Given the description of an element on the screen output the (x, y) to click on. 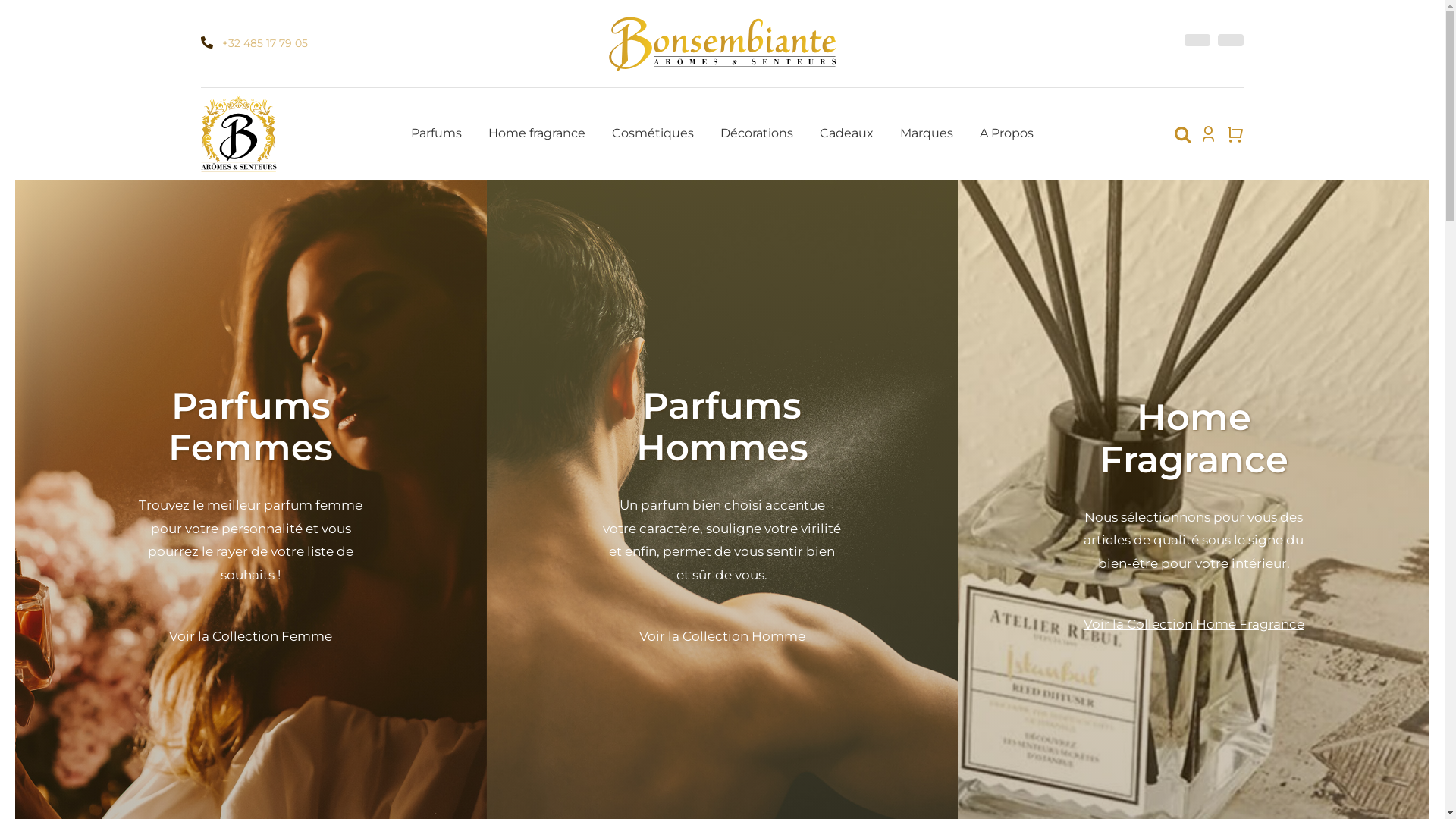
Cadeaux Element type: text (846, 133)
Voir la Collection Homme Element type: text (722, 635)
Marques Element type: text (926, 133)
Parfums Element type: text (436, 133)
Facebook Element type: hover (1197, 40)
Recherche Element type: hover (1182, 133)
Voir la Collection Femme Element type: text (250, 635)
Home fragrance Element type: text (536, 133)
A Propos Element type: text (1006, 133)
Instagram Element type: hover (1230, 40)
Voir la Collection Home Fragrance Element type: text (1193, 623)
Se connecter Element type: text (1158, 316)
+32 485 17 79 05 Element type: text (264, 43)
